Given the description of an element on the screen output the (x, y) to click on. 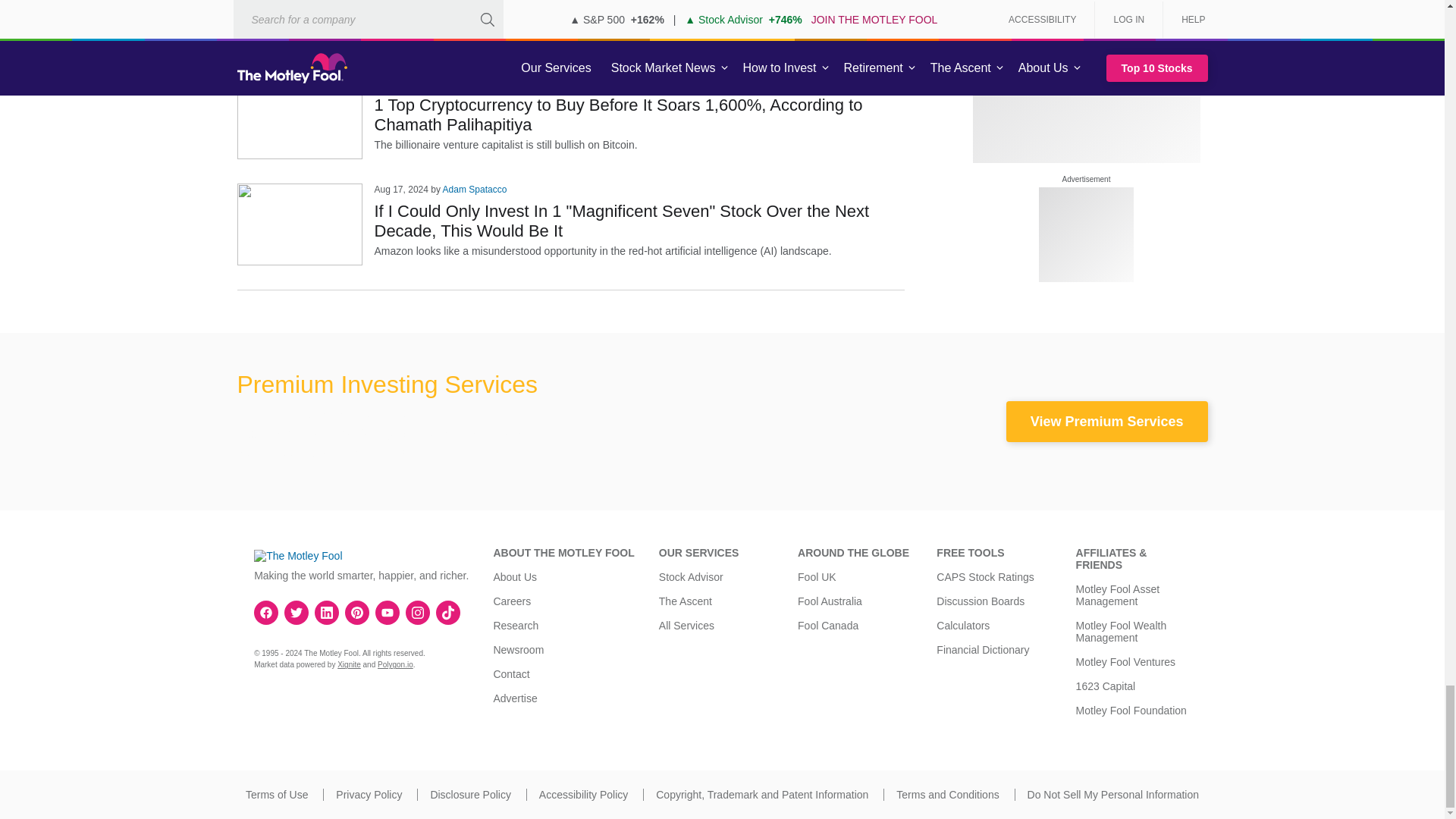
Disclosure Policy (470, 794)
Copyright, Trademark and Patent Information (761, 794)
Privacy Policy (368, 794)
Terms and Conditions (947, 794)
Do Not Sell My Personal Information. (1112, 794)
Accessibility Policy (582, 794)
Terms of Use (276, 794)
